Given the description of an element on the screen output the (x, y) to click on. 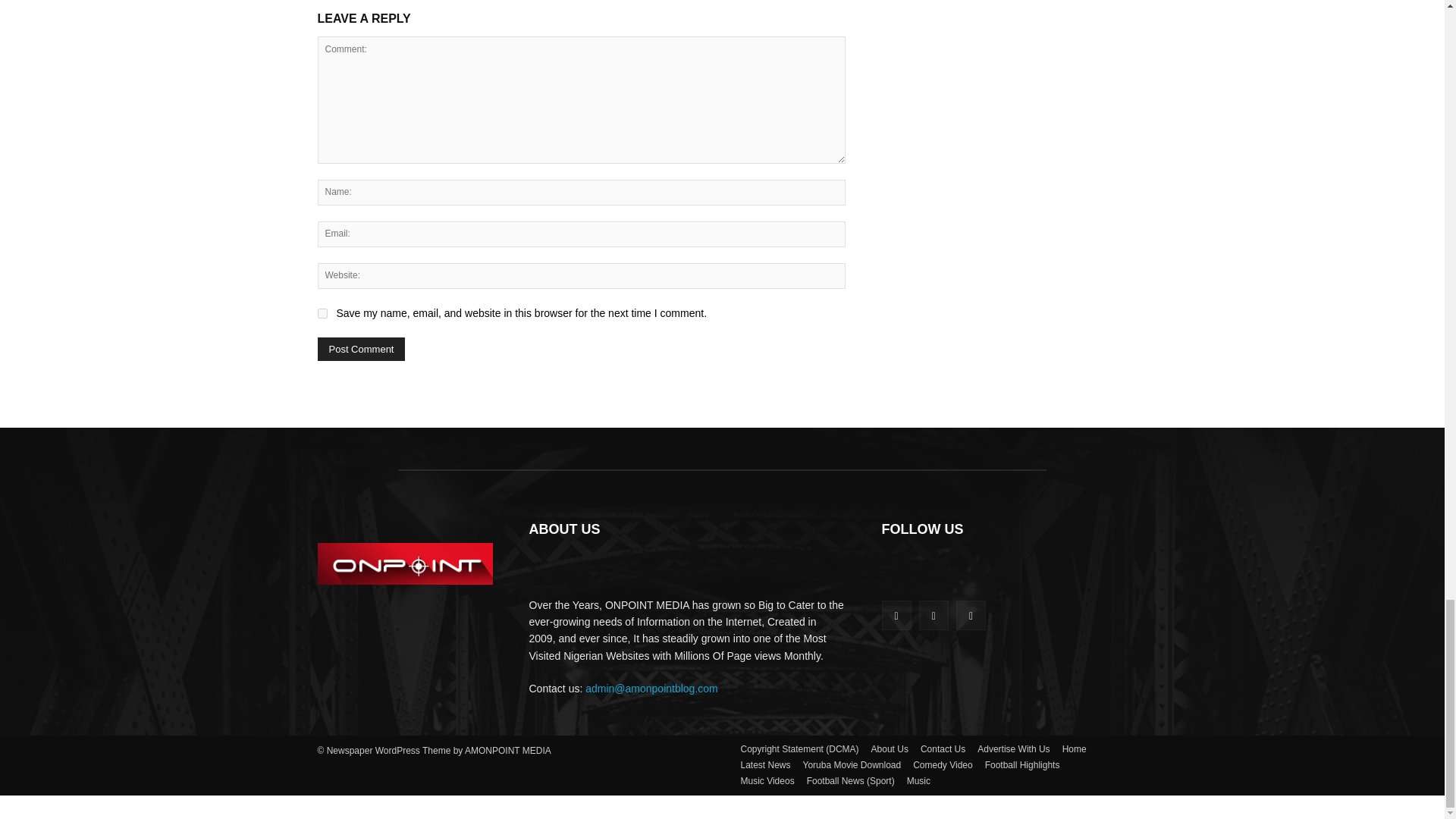
yes (321, 313)
Post Comment (360, 349)
